Given the description of an element on the screen output the (x, y) to click on. 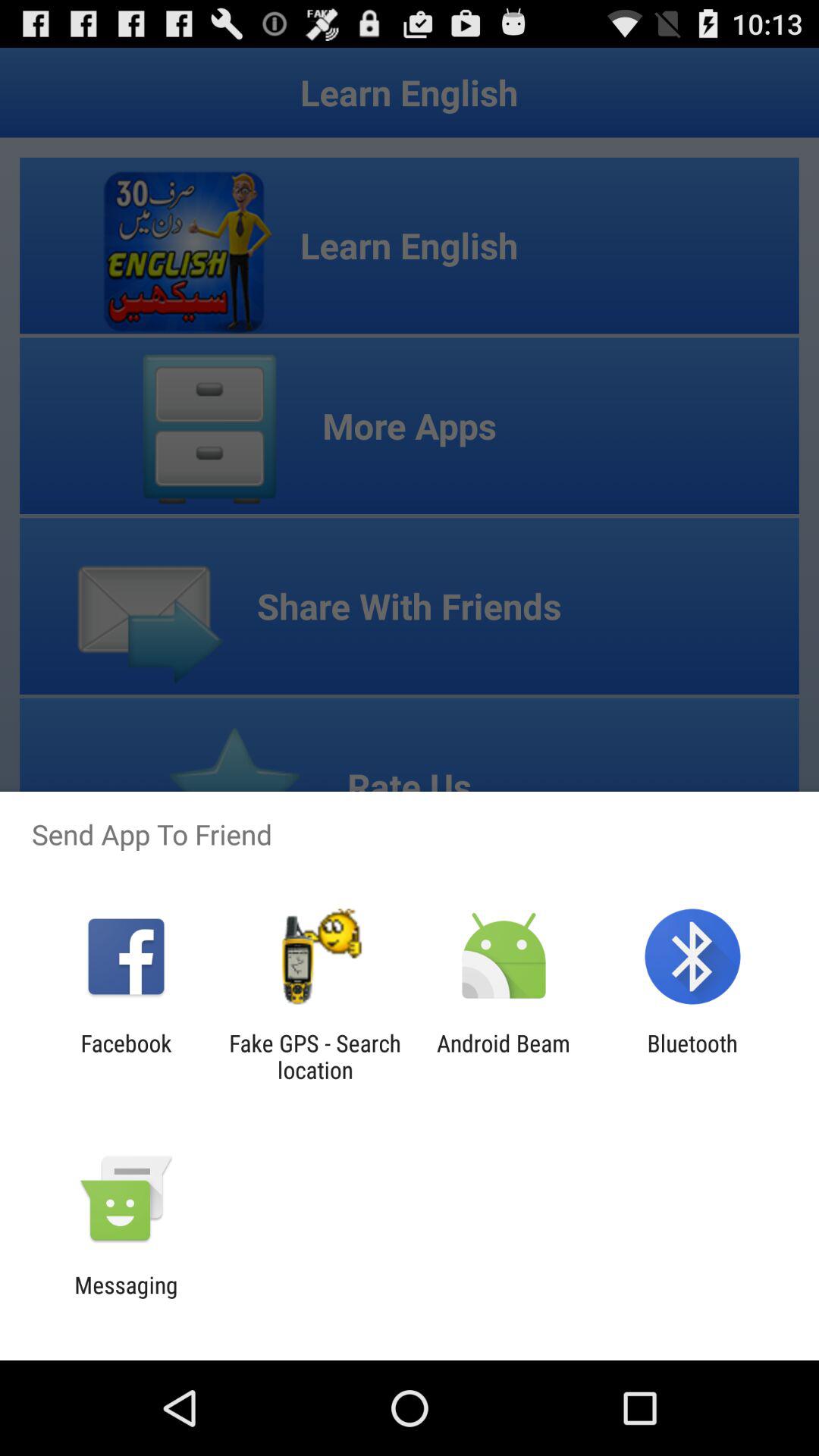
turn off the bluetooth item (692, 1056)
